Given the description of an element on the screen output the (x, y) to click on. 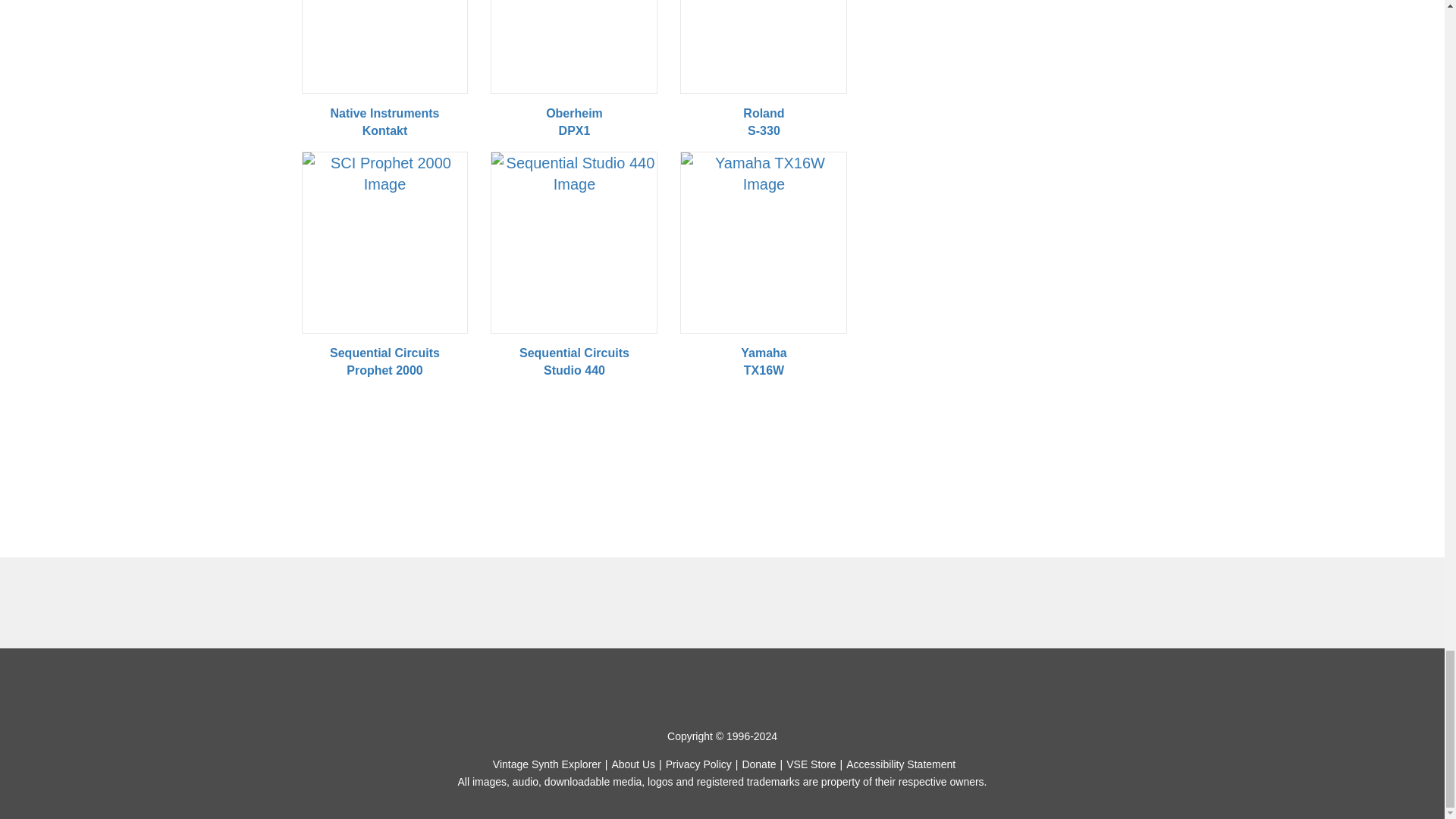
Subscribe to our News Feed (774, 687)
Like us on Facebook (670, 687)
Follow us on Twitter (739, 687)
